Given the description of an element on the screen output the (x, y) to click on. 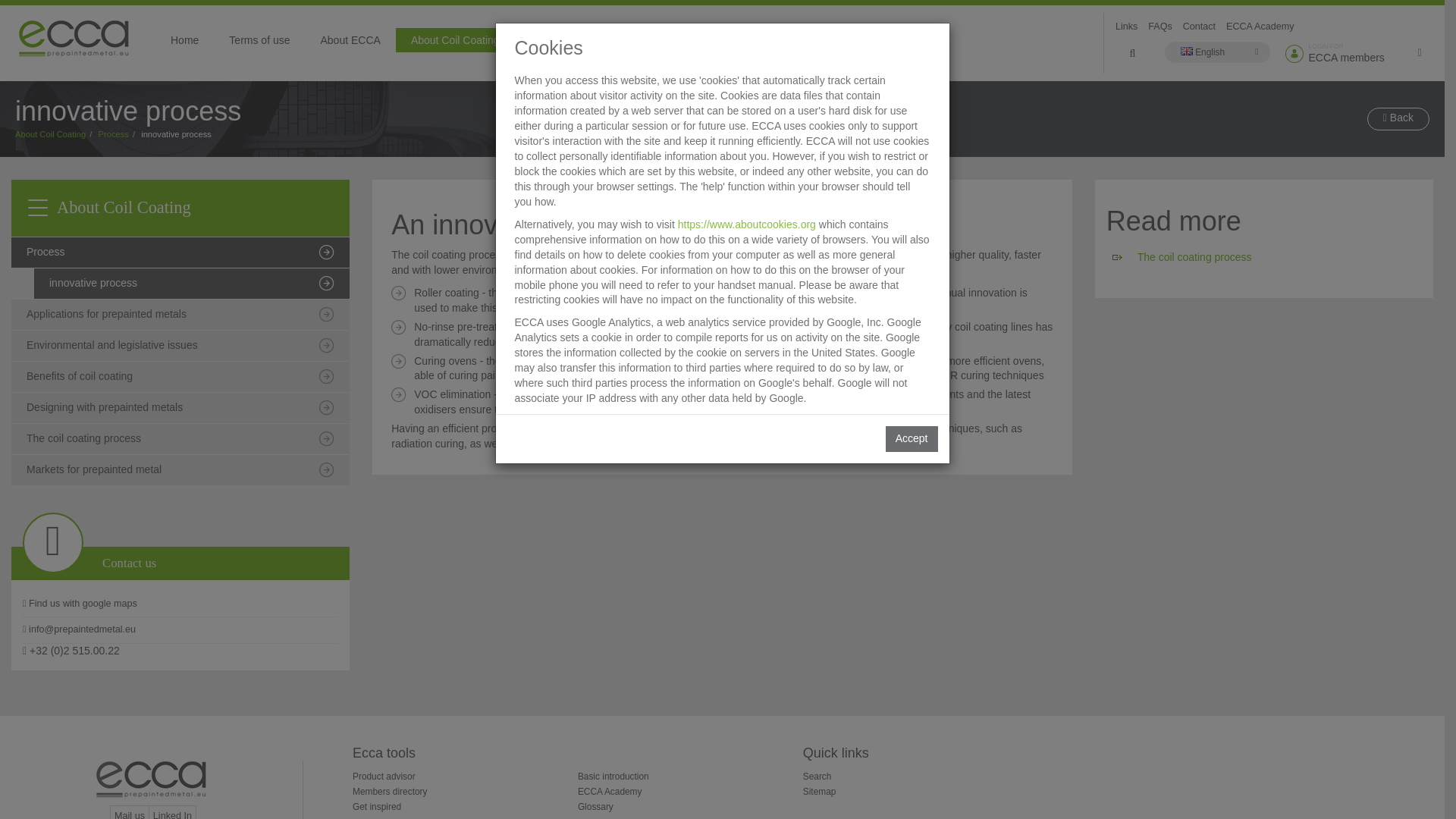
Links (1126, 26)
Press (723, 39)
Benefits of coil coating (180, 377)
The coil coating process (180, 439)
ECCA Academy (1260, 26)
English (1217, 52)
Linked In (172, 812)
FAQs (1160, 26)
Process (114, 133)
Contact (1199, 26)
Home (184, 39)
innovative process (191, 283)
Process (180, 252)
Markets for prepainted metal (180, 470)
The coil coating process (1194, 256)
